Given the description of an element on the screen output the (x, y) to click on. 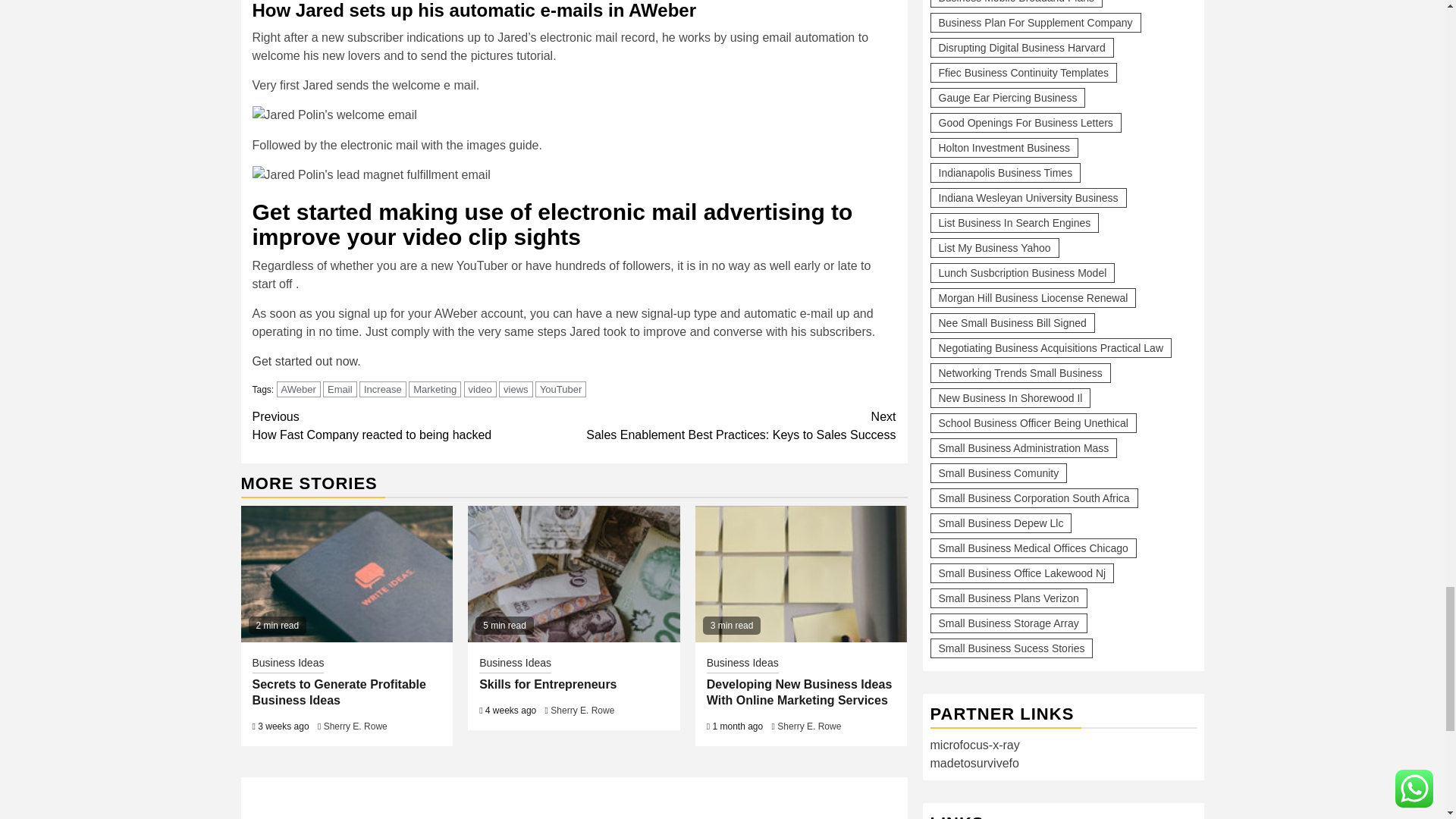
Developing New Business Ideas With Online Marketing Services (734, 425)
Increase (801, 574)
Secrets to Generate Profitable Business Ideas (382, 389)
views (346, 574)
Get started out now. (515, 389)
AWeber (305, 360)
video (298, 389)
YouTuber (480, 389)
Marketing (560, 389)
Skills for Entrepreneurs (412, 425)
Email (435, 389)
